Given the description of an element on the screen output the (x, y) to click on. 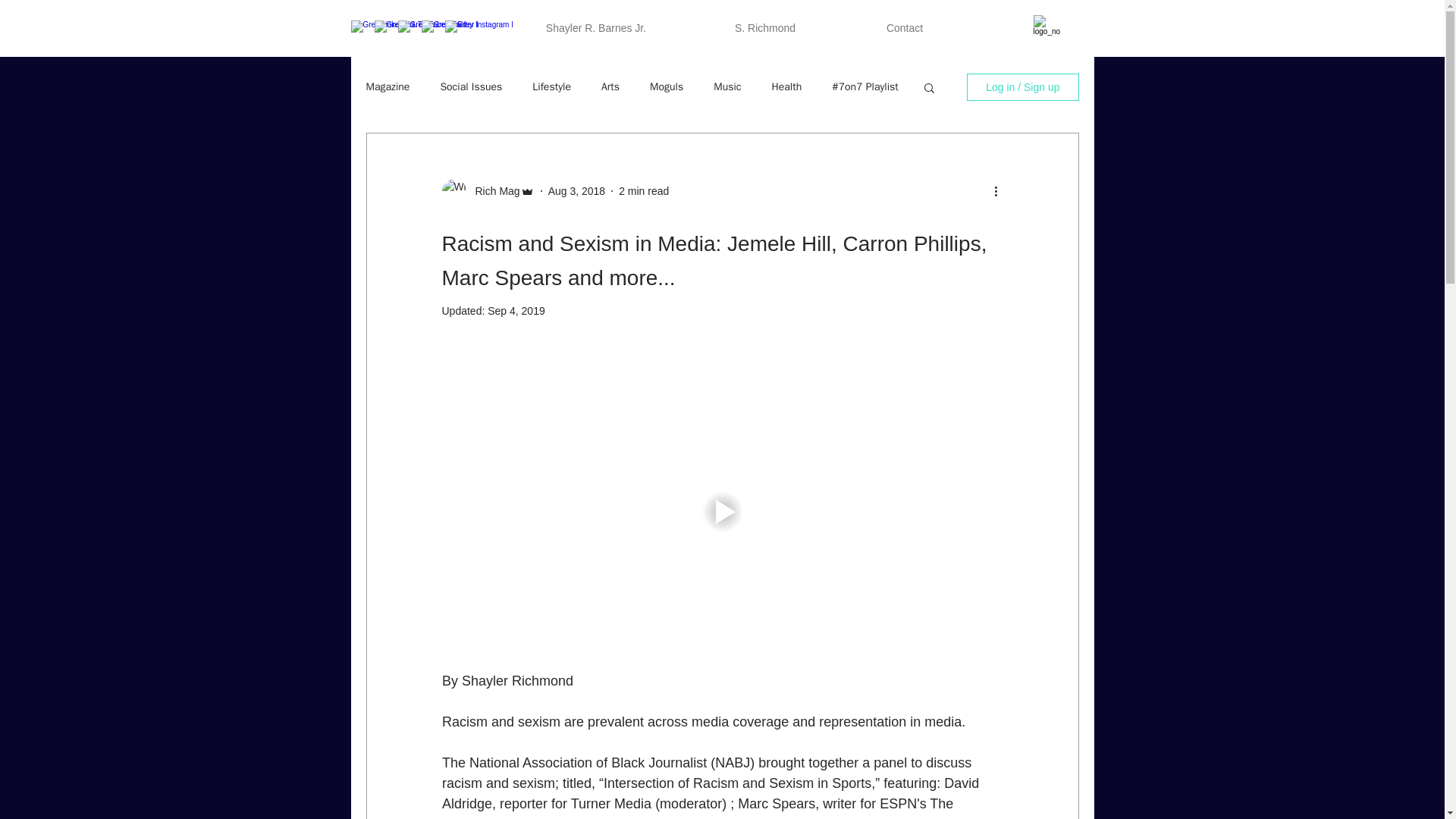
Magazine (387, 87)
Arts (610, 87)
Social Issues (470, 87)
Sep 4, 2019 (515, 310)
Health (786, 87)
Shayler R. Barnes Jr. (595, 27)
Moguls (665, 87)
S. Richmond (765, 27)
Music (727, 87)
2 min read (643, 191)
